Given the description of an element on the screen output the (x, y) to click on. 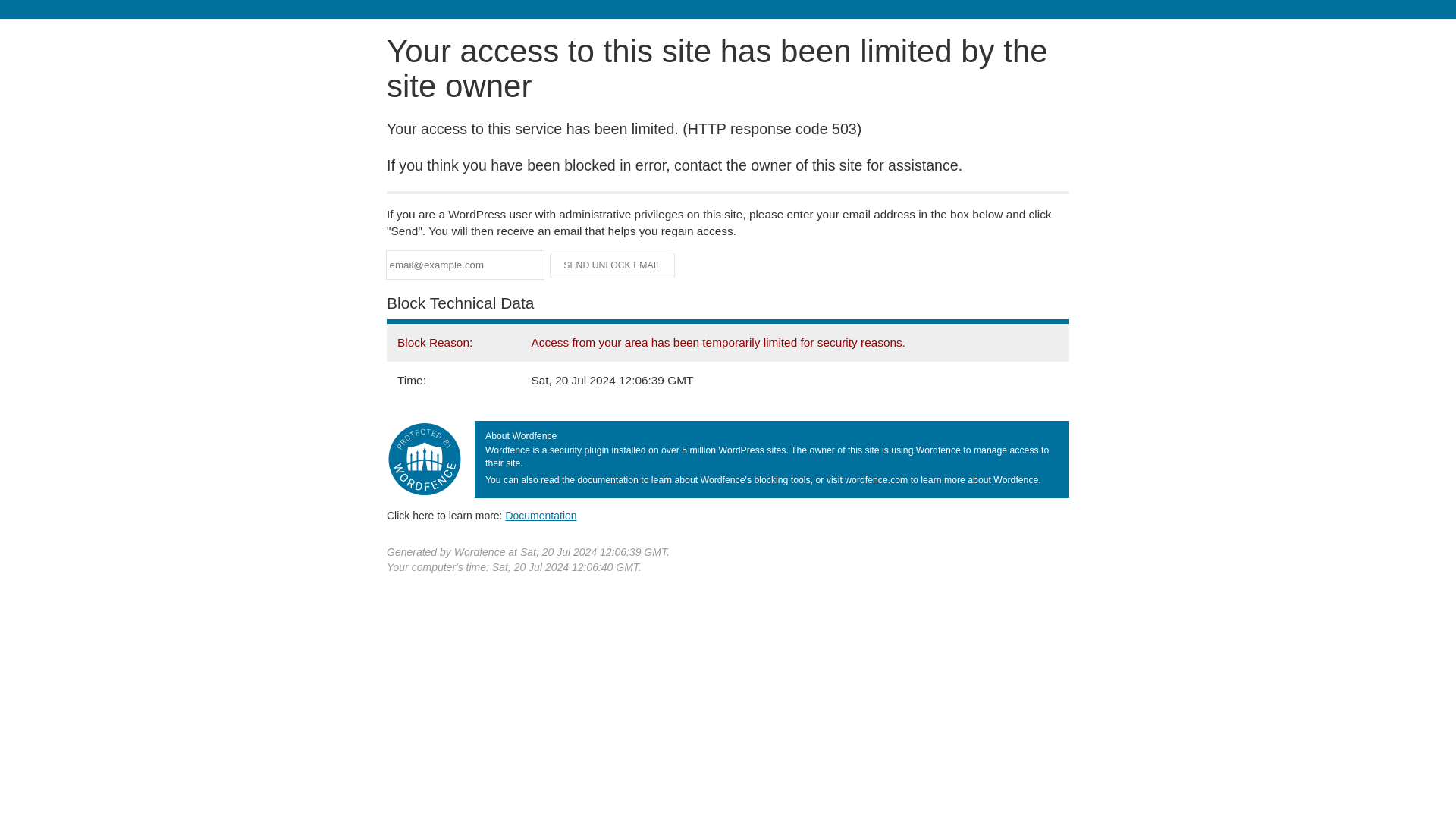
Send Unlock Email (612, 265)
Documentation (540, 515)
Send Unlock Email (612, 265)
